Given the description of an element on the screen output the (x, y) to click on. 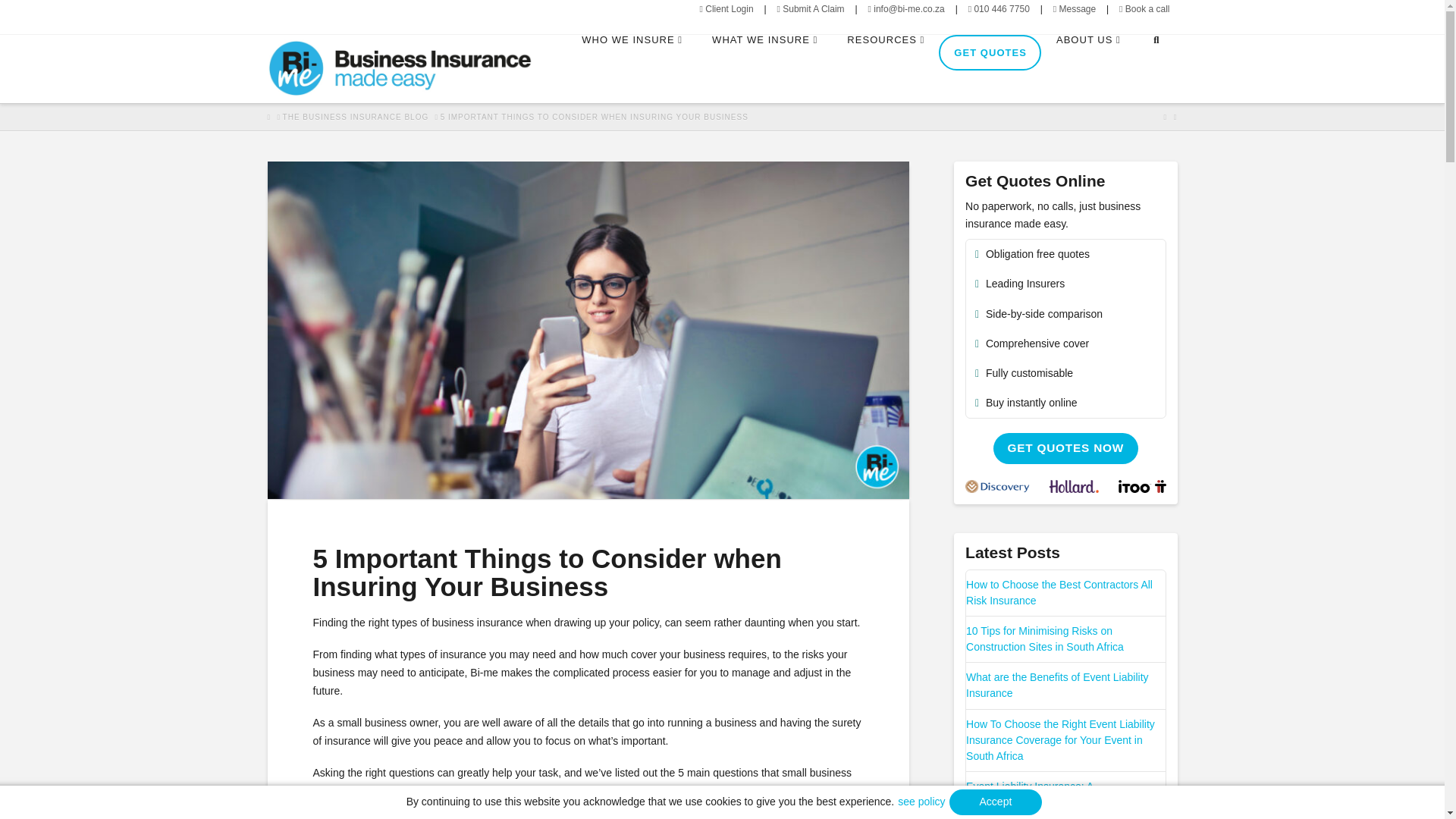
RESOURCES (885, 69)
Book a call (1144, 9)
010 446 7750 (998, 9)
Client Login (725, 9)
Message (1074, 9)
WHO WE INSURE (631, 69)
WHAT WE INSURE (764, 69)
Submit A Claim (810, 9)
You Are Here (594, 117)
